Given the description of an element on the screen output the (x, y) to click on. 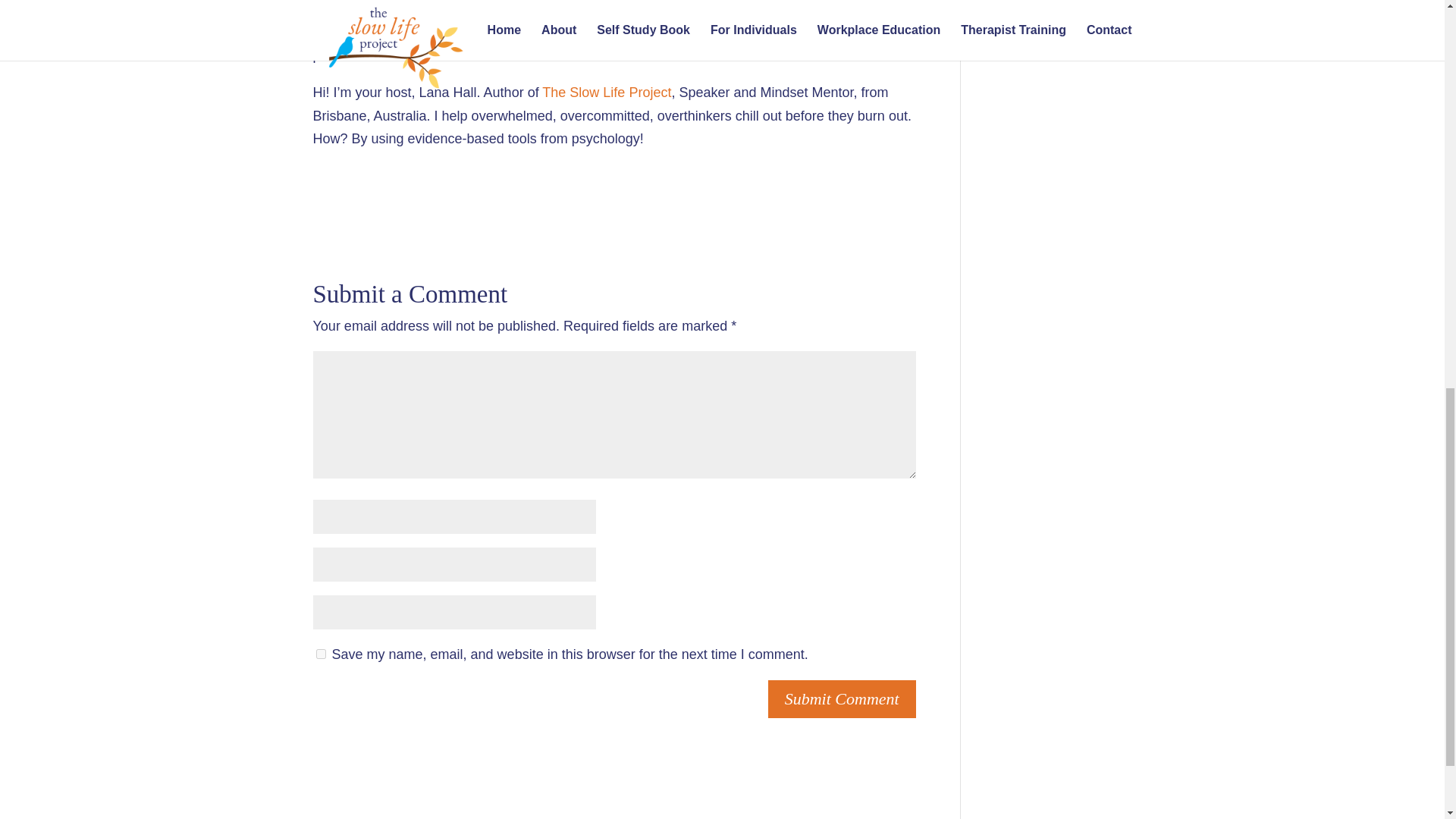
The Slow Life Project (606, 92)
yes (319, 654)
Submit Comment (841, 699)
Submit Comment (841, 699)
The Slow Life Project approach to personal development (629, 32)
